Given the description of an element on the screen output the (x, y) to click on. 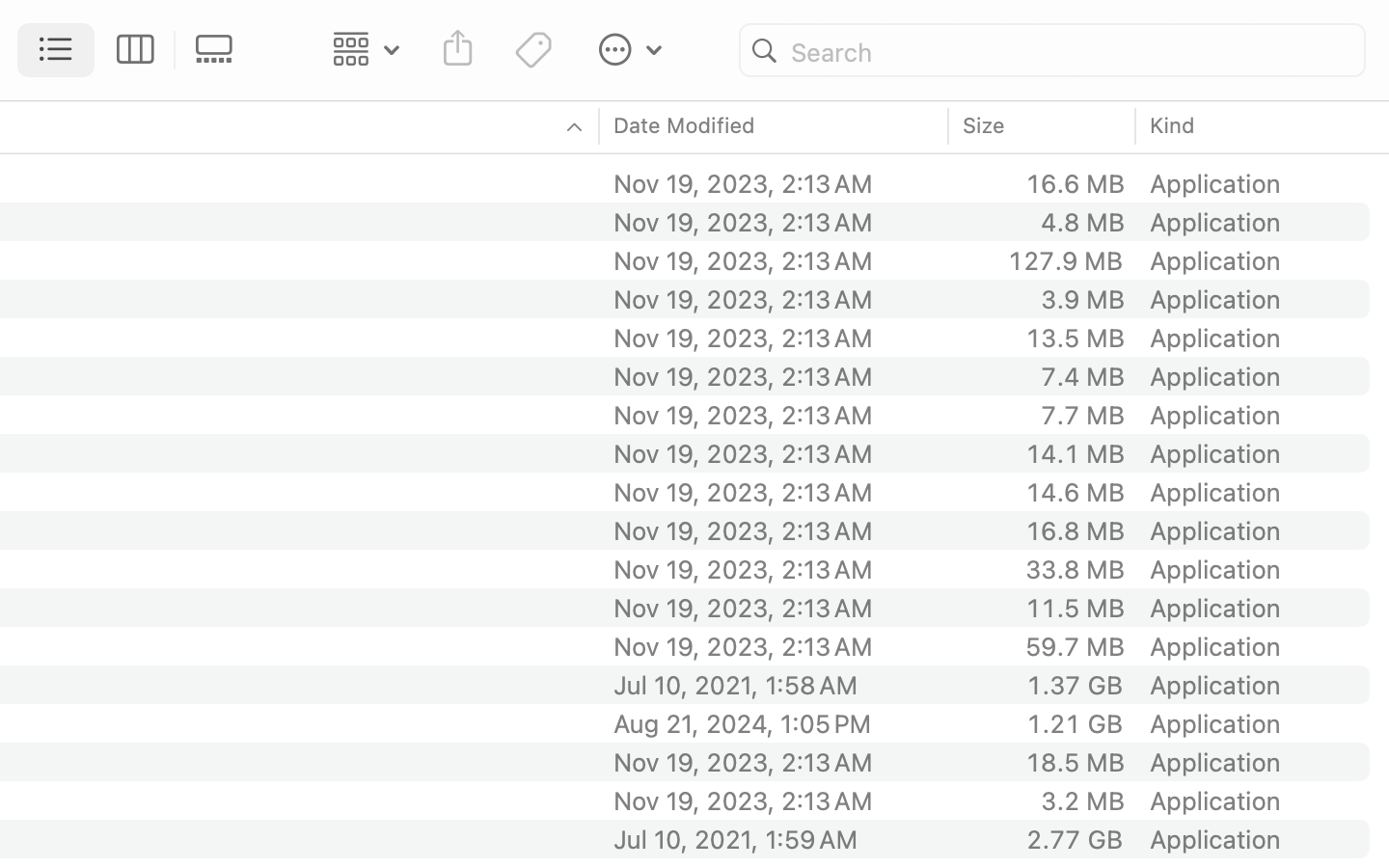
Size Element type: AXStaticText (984, 124)
59.7 MB Element type: AXStaticText (1074, 645)
14.1 MB Element type: AXStaticText (1074, 452)
1 Element type: AXRadioButton (56, 49)
7.4 MB Element type: AXStaticText (1081, 375)
